Given the description of an element on the screen output the (x, y) to click on. 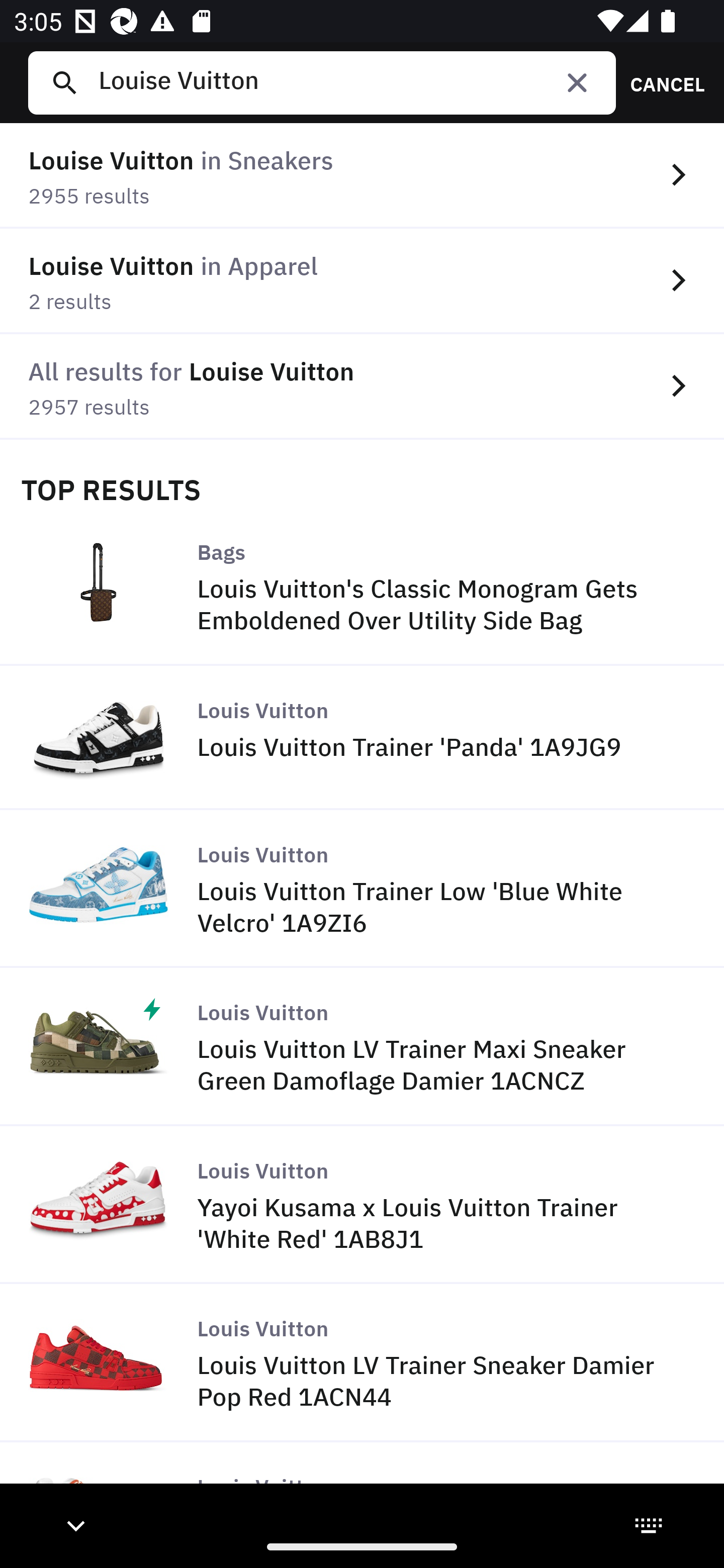
CANCEL (660, 82)
Louise Vuitton (349, 82)
 (577, 82)
Louise Vuitton  in Sneakers 2955 results  (362, 175)
Louise Vuitton  in Apparel 2 results  (362, 280)
All results for  Louise Vuitton 2957 results  (362, 386)
Louis Vuitton Louis Vuitton Trainer 'Panda' 1A9JG9 (362, 738)
